Given the description of an element on the screen output the (x, y) to click on. 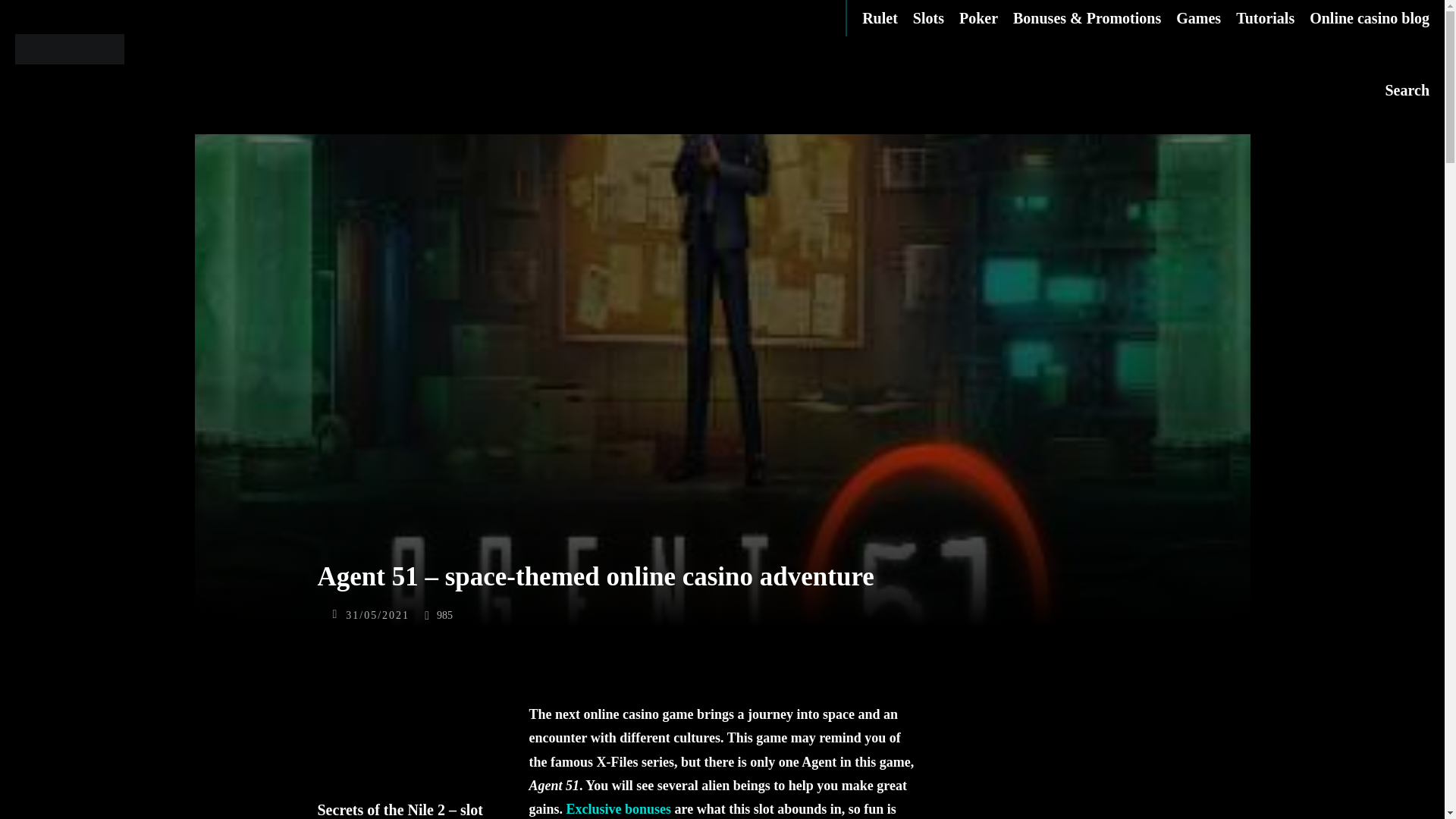
Search (1406, 89)
Slots (935, 18)
Poker (986, 18)
Games (1206, 18)
Tutorials (1272, 18)
Rulet (886, 18)
